Given the description of an element on the screen output the (x, y) to click on. 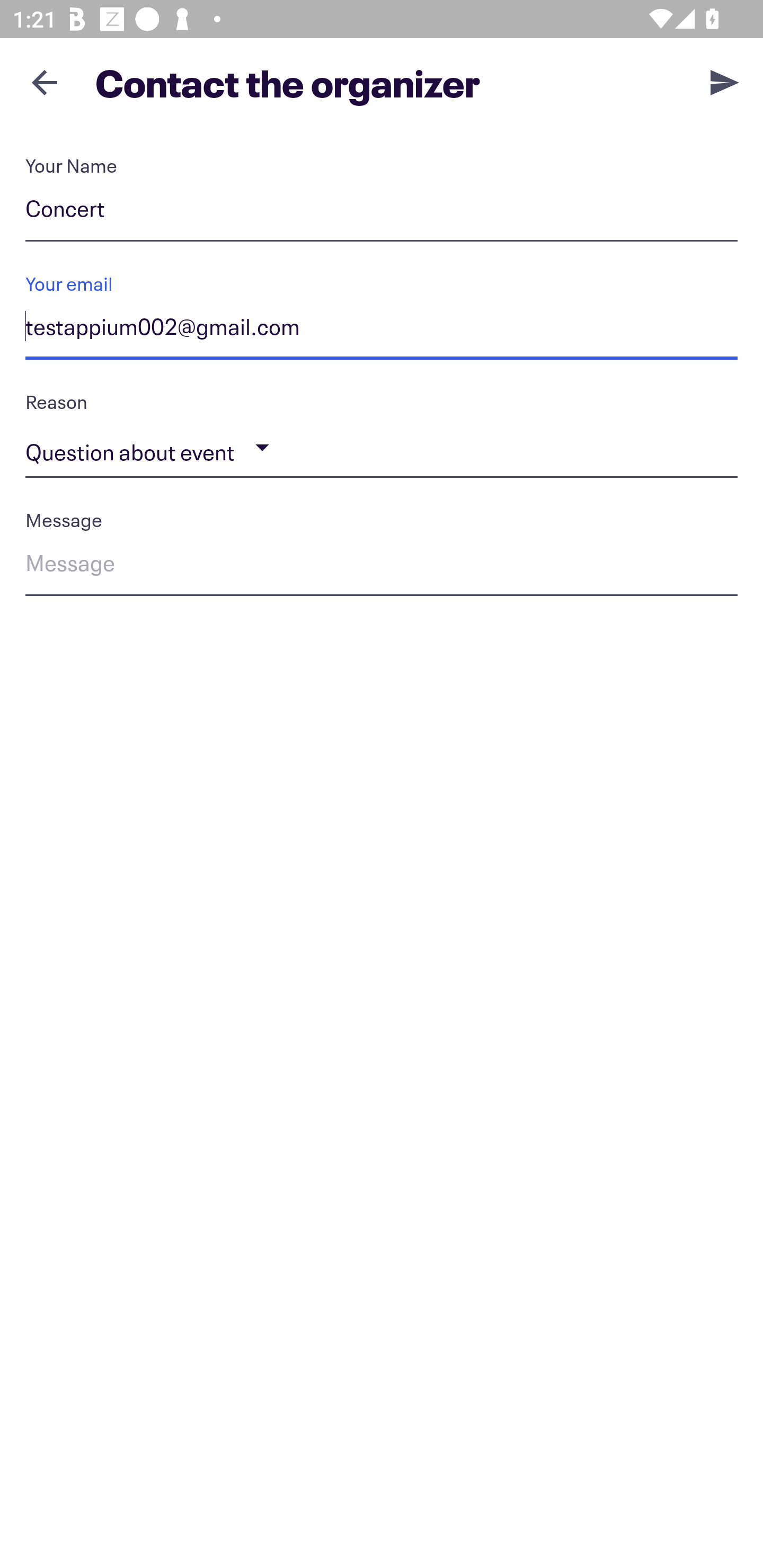
Navigate up (44, 82)
Send (724, 81)
Concert (381, 211)
testappium002@gmail.com (381, 329)
Question about event    (381, 447)
Message (381, 565)
